Given the description of an element on the screen output the (x, y) to click on. 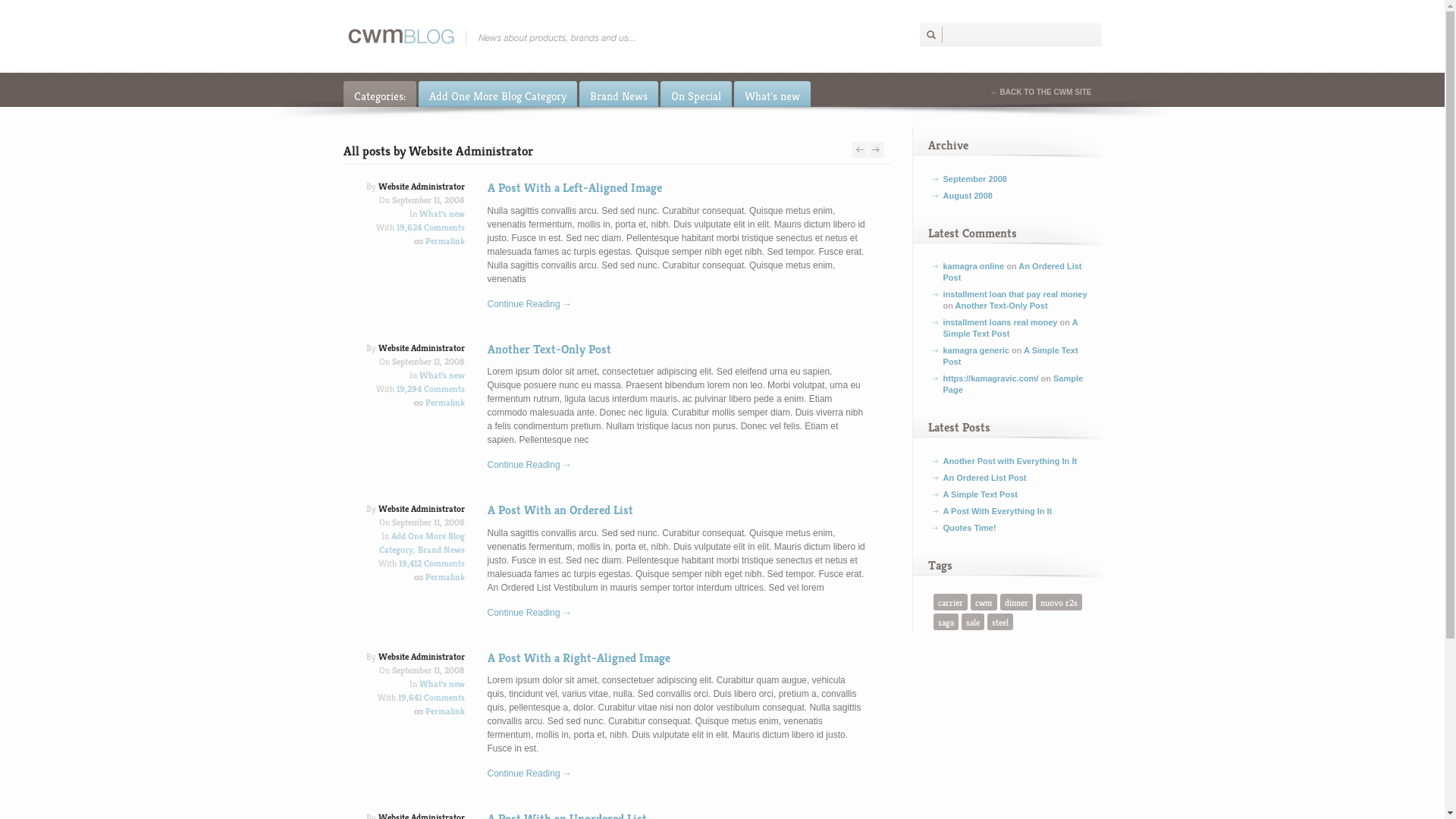
kamagra online Element type: text (973, 265)
A Post With a Left-Aligned Image Element type: text (573, 187)
Permalink Element type: text (444, 710)
kamagra generic Element type: text (976, 349)
What's new Element type: text (772, 93)
steel Element type: text (1000, 621)
dinner Element type: text (1015, 601)
carrier Element type: text (949, 601)
August 2008 Element type: text (967, 195)
Website Administrator Element type: text (420, 656)
Brand News Element type: text (440, 549)
saga Element type: text (944, 621)
Sample Page Element type: text (1013, 383)
What's new Element type: text (441, 213)
cwm Element type: text (983, 601)
https://kamagravic.com/ Element type: text (990, 377)
A Post With an Ordered List Element type: text (559, 509)
Search Element type: text (932, 34)
An Ordered List Post Element type: text (1012, 271)
What's new Element type: text (441, 683)
19,294 Comments Element type: text (429, 388)
Quotes Time! Element type: text (969, 527)
Add One More Blog Category Element type: text (421, 542)
Permalink Element type: text (444, 401)
On Special Element type: text (695, 93)
September 2008 Element type: text (975, 178)
Permalink Element type: text (444, 240)
sale Element type: text (972, 621)
Brand News Element type: text (618, 93)
Another Text-Only Post Element type: text (1001, 305)
What's new Element type: text (441, 374)
Permalink Element type: text (444, 576)
installment loan that pay real money Element type: text (1015, 293)
19,641 Comments Element type: text (430, 696)
CWM Homewares Blog
Just another WordPress site Element type: text (490, 36)
A Simple Text Post Element type: text (1010, 327)
Another Post with Everything In It Element type: text (1010, 460)
A Simple Text Post Element type: text (980, 493)
nuovo r2s Element type: text (1058, 601)
19,624 Comments Element type: text (429, 226)
An Ordered List Post Element type: text (984, 477)
A Post With Everything In It Element type: text (997, 510)
Categories: Element type: text (378, 93)
Website Administrator Element type: text (420, 508)
A Post With a Right-Aligned Image Element type: text (577, 657)
Another Text-Only Post Element type: text (548, 349)
A Simple Text Post Element type: text (1010, 355)
19,412 Comments Element type: text (431, 562)
Add One More Blog Category Element type: text (497, 93)
Website Administrator Element type: text (420, 347)
installment loans real money Element type: text (1000, 321)
Website Administrator Element type: text (420, 185)
